Given the description of an element on the screen output the (x, y) to click on. 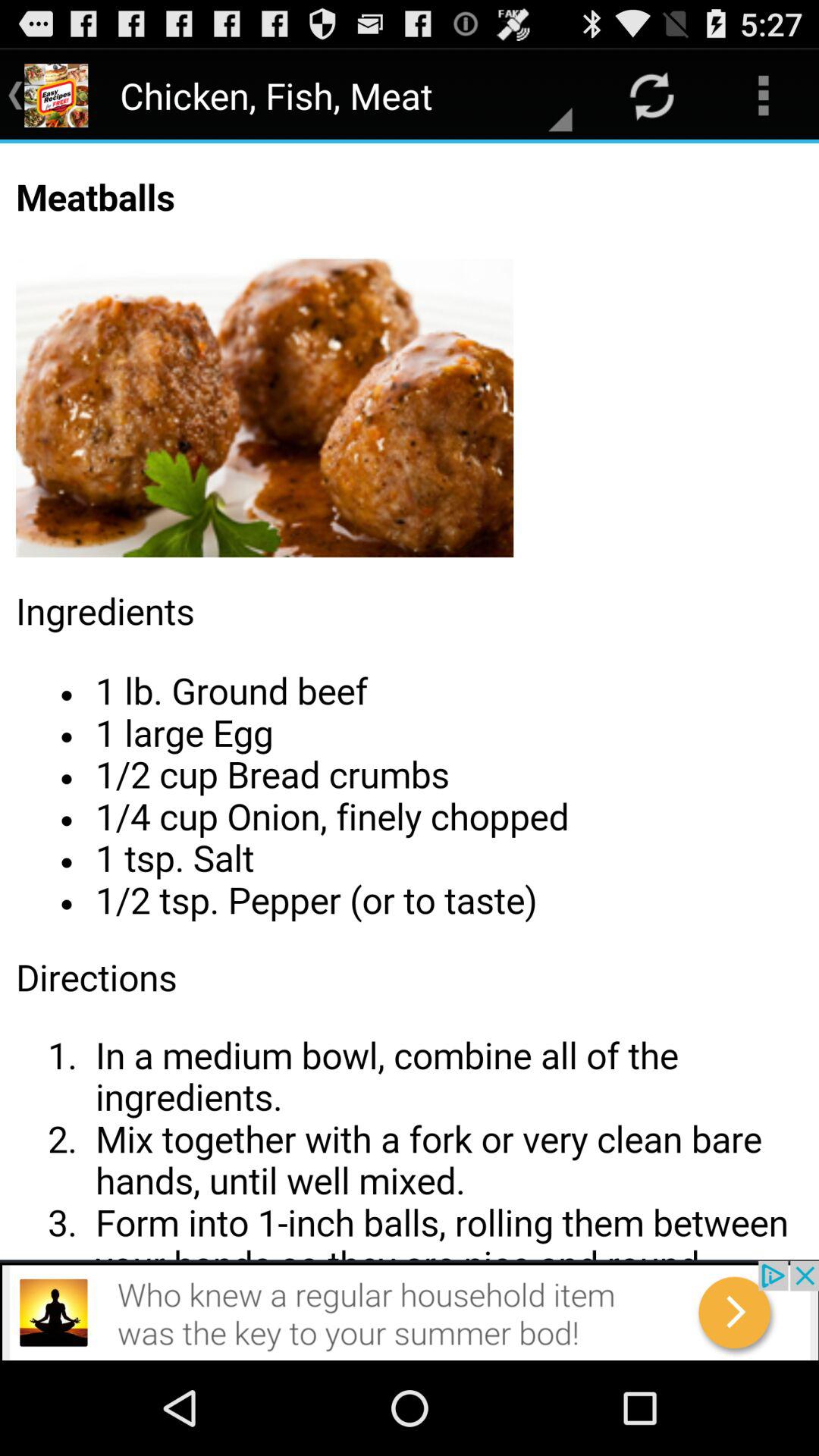
share the article (409, 701)
